Given the description of an element on the screen output the (x, y) to click on. 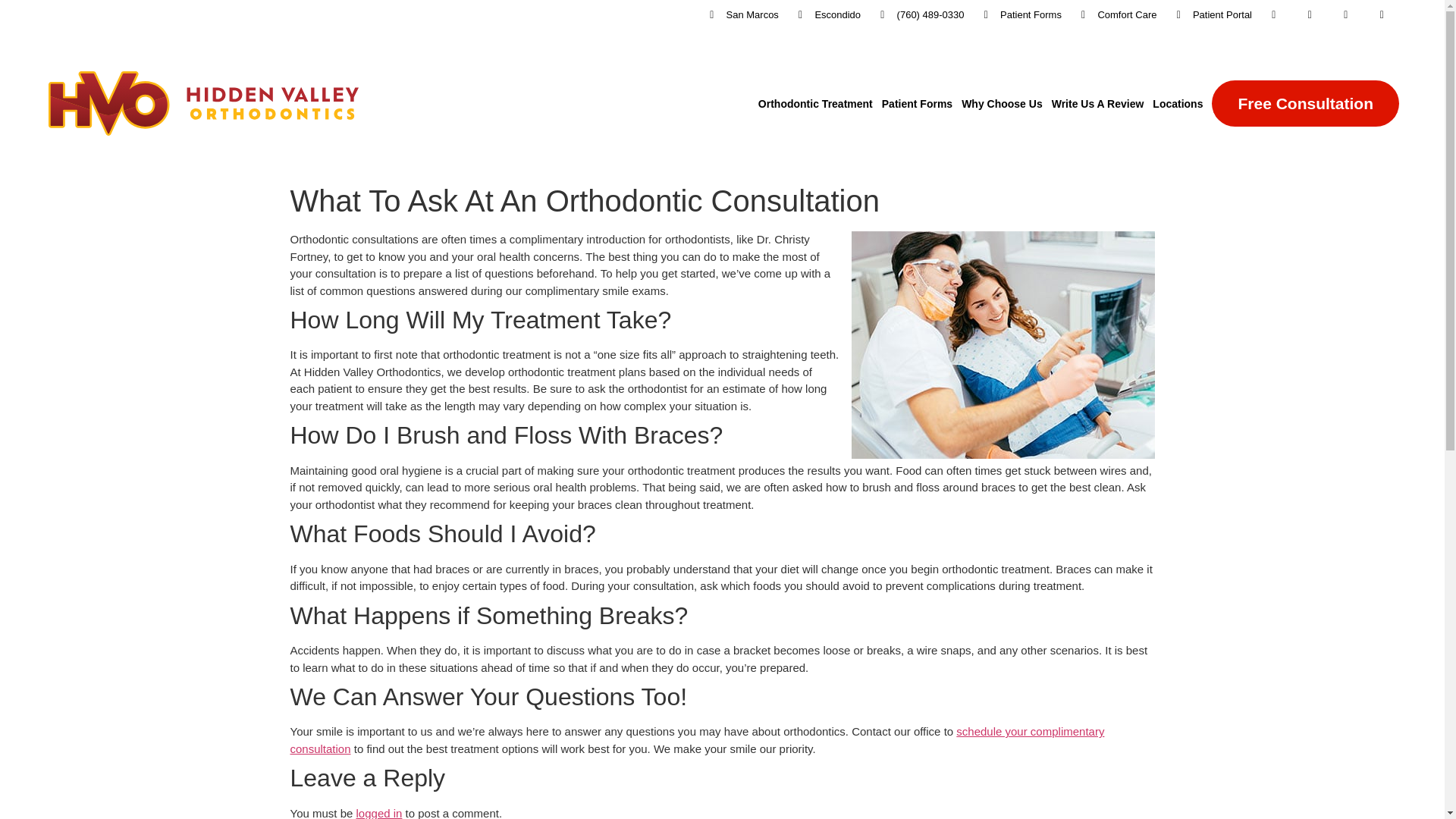
Patient Forms (1020, 14)
Escondido (826, 14)
Patient Portal (1212, 14)
Write Us A Review (1097, 103)
Why Choose Us (1001, 103)
Orthodontic Treatment (815, 103)
Patient Forms (916, 103)
San Marcos (741, 14)
Comfort Care (1117, 14)
